Given the description of an element on the screen output the (x, y) to click on. 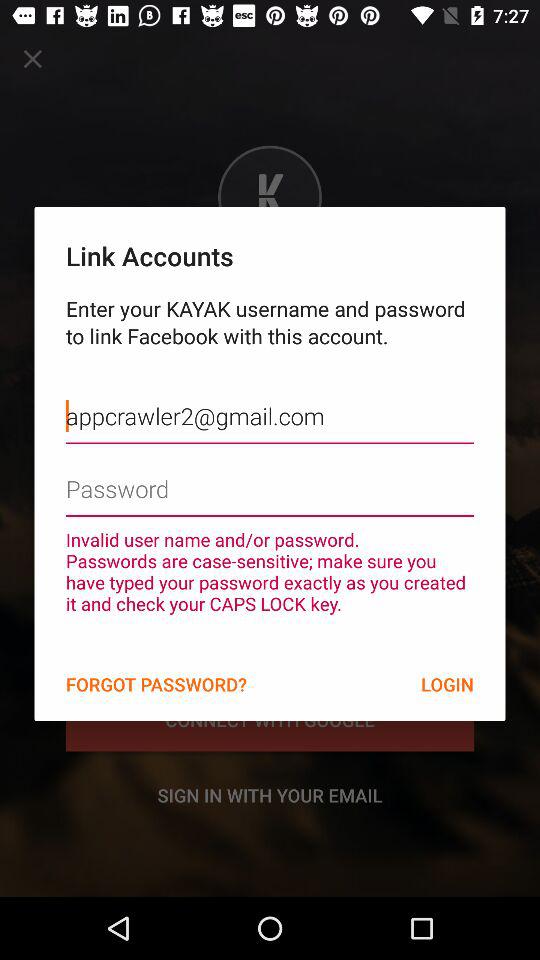
scroll to appcrawler2@gmail.com (269, 401)
